Given the description of an element on the screen output the (x, y) to click on. 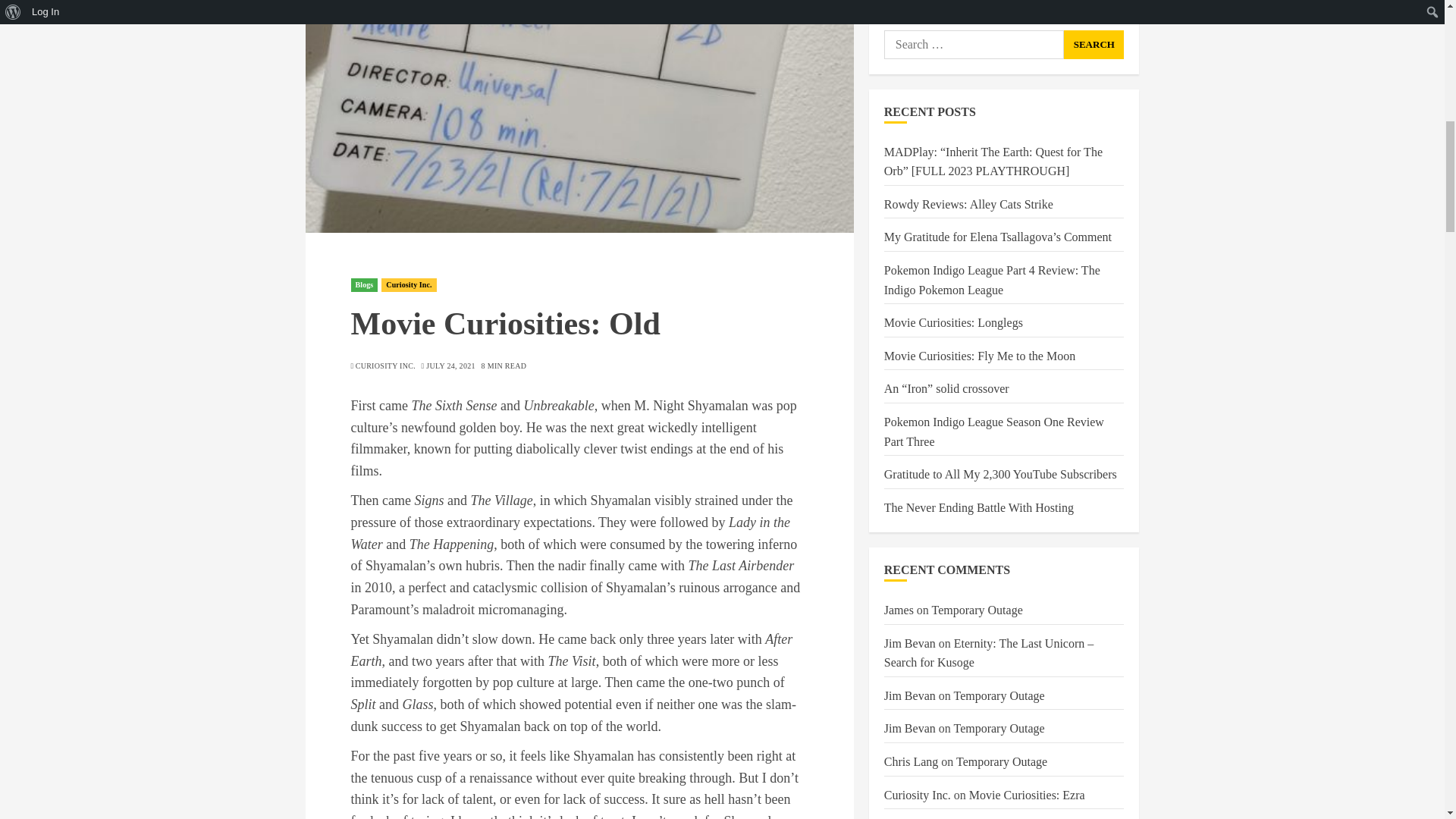
JULY 24, 2021 (450, 366)
Curiosity Inc. (408, 284)
Movie Curiosities: Old (578, 116)
CURIOSITY INC. (384, 366)
Blogs (363, 284)
